Given the description of an element on the screen output the (x, y) to click on. 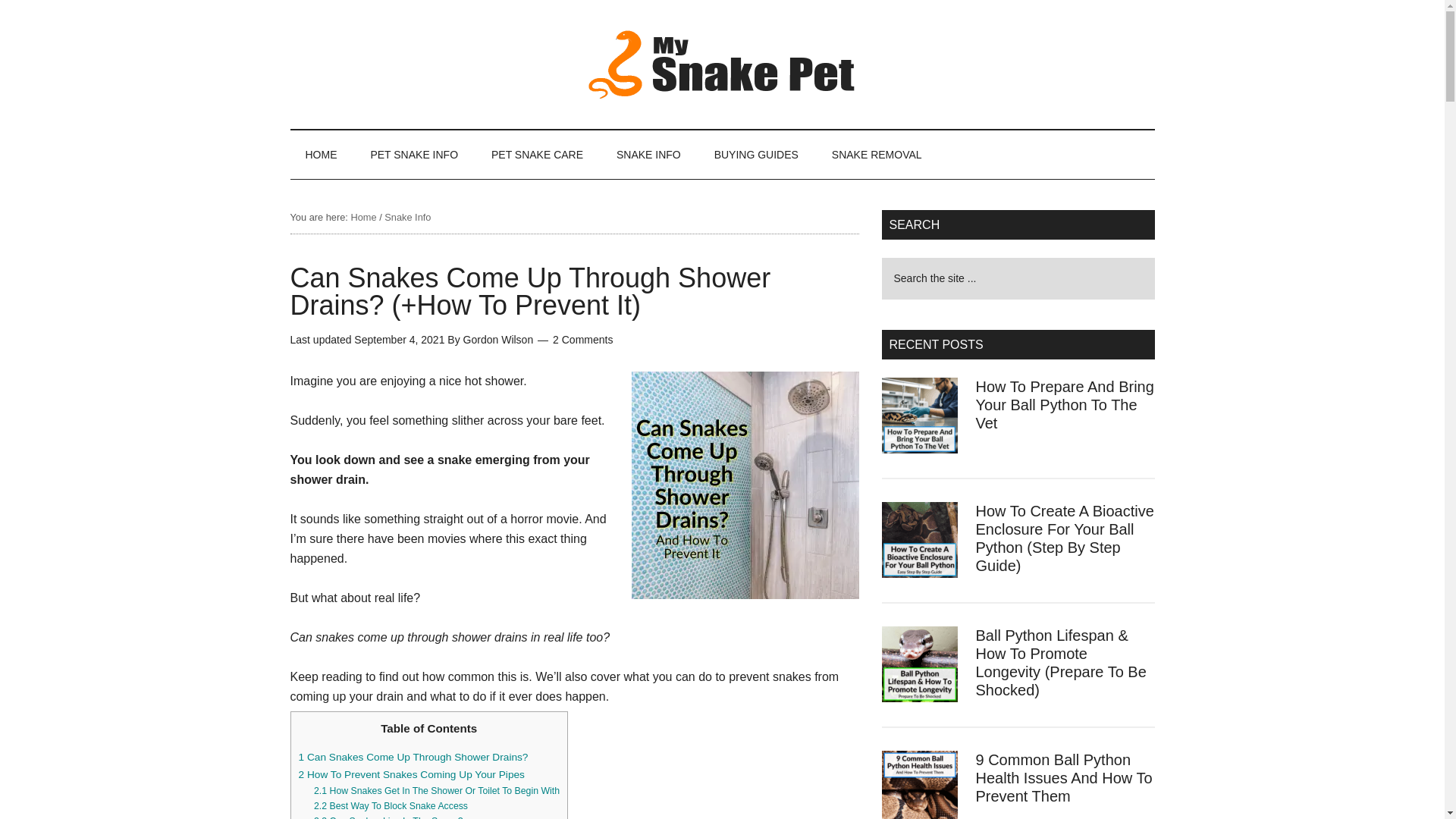
2 How To Prevent Snakes Coming Up Your Pipes (411, 774)
SNAKE INFO (648, 154)
PET SNAKE INFO (414, 154)
PET SNAKE CARE (537, 154)
2.3 Can Snakes Live In The Sewer? (388, 817)
My Snake Pet (721, 64)
2.1 How Snakes Get In The Shower Or Toilet To Begin With (436, 790)
2 Comments (582, 339)
SNAKE REMOVAL (876, 154)
Gordon Wilson (498, 339)
Snake Info (407, 216)
HOME (320, 154)
Home (362, 216)
